Given the description of an element on the screen output the (x, y) to click on. 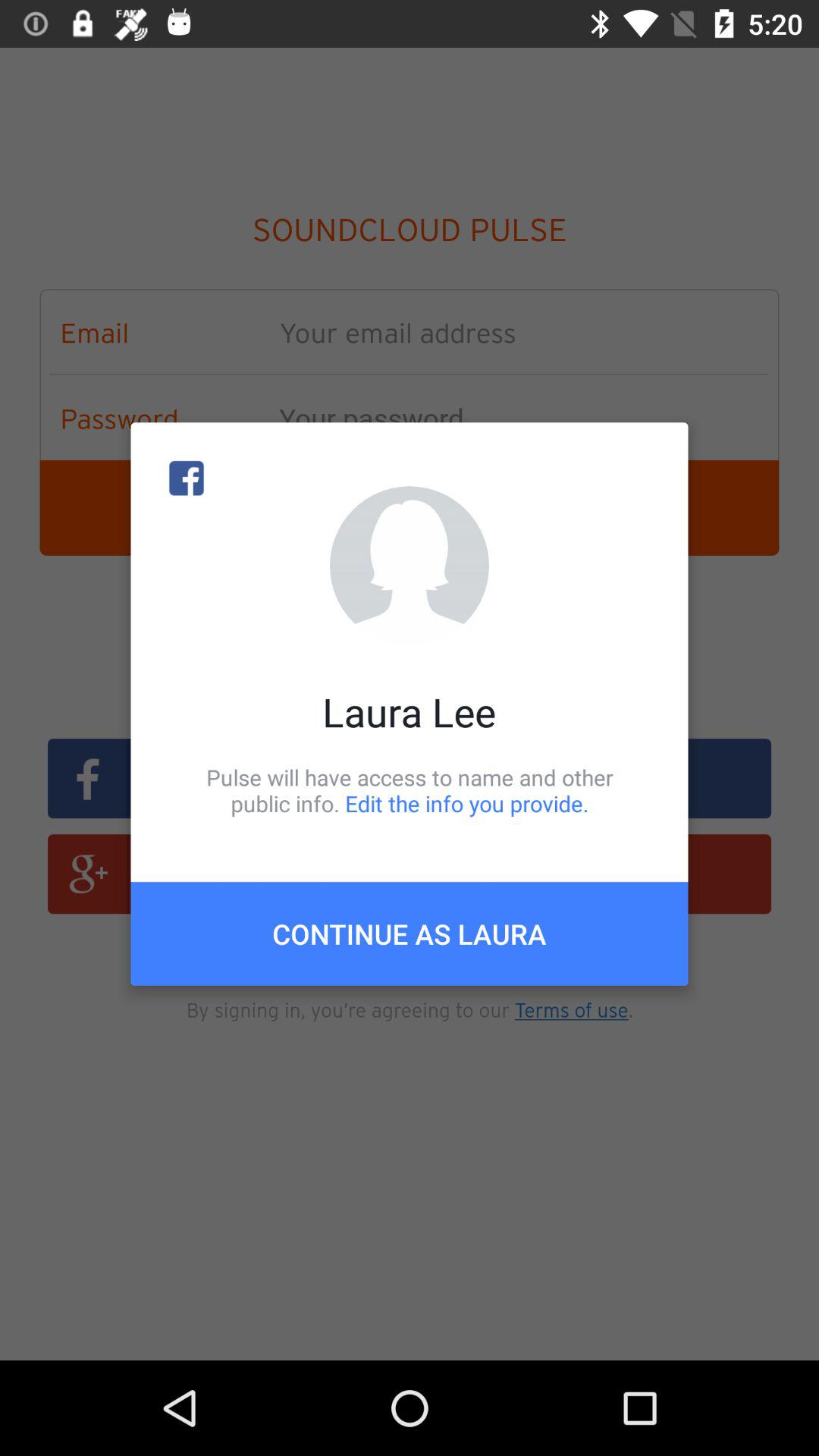
press continue as laura item (409, 933)
